Given the description of an element on the screen output the (x, y) to click on. 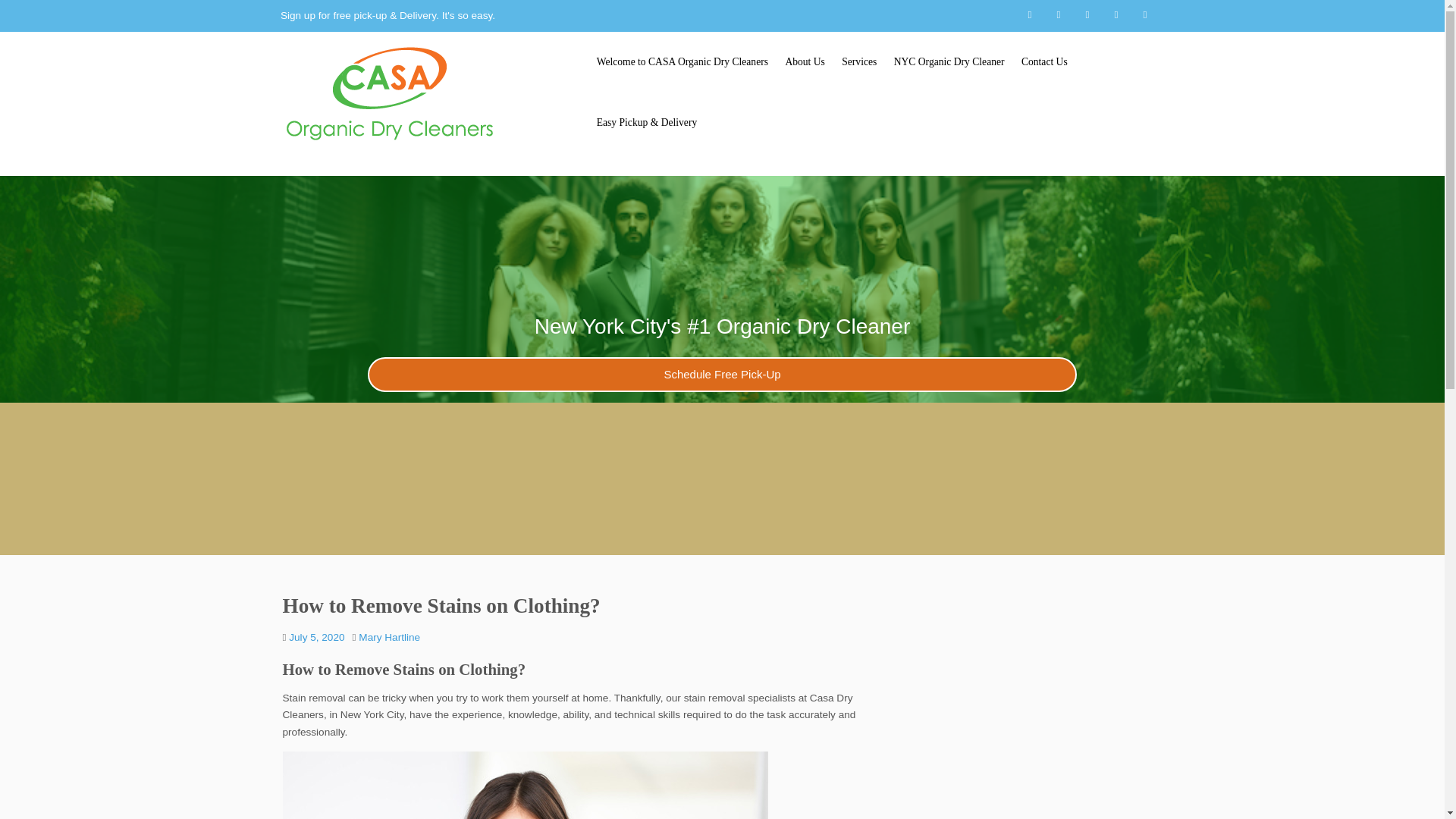
NYC Organic Dry Cleaner (949, 61)
Mary Hartline (389, 636)
 Twitter  (1032, 14)
Schedule Free Pick-Up (722, 374)
July 5, 2020 (315, 636)
Rss (1147, 14)
Linkedin (1090, 14)
Contact Us (1044, 61)
About Us (804, 61)
Welcome to CASA Organic Dry Cleaners (682, 61)
